Given the description of an element on the screen output the (x, y) to click on. 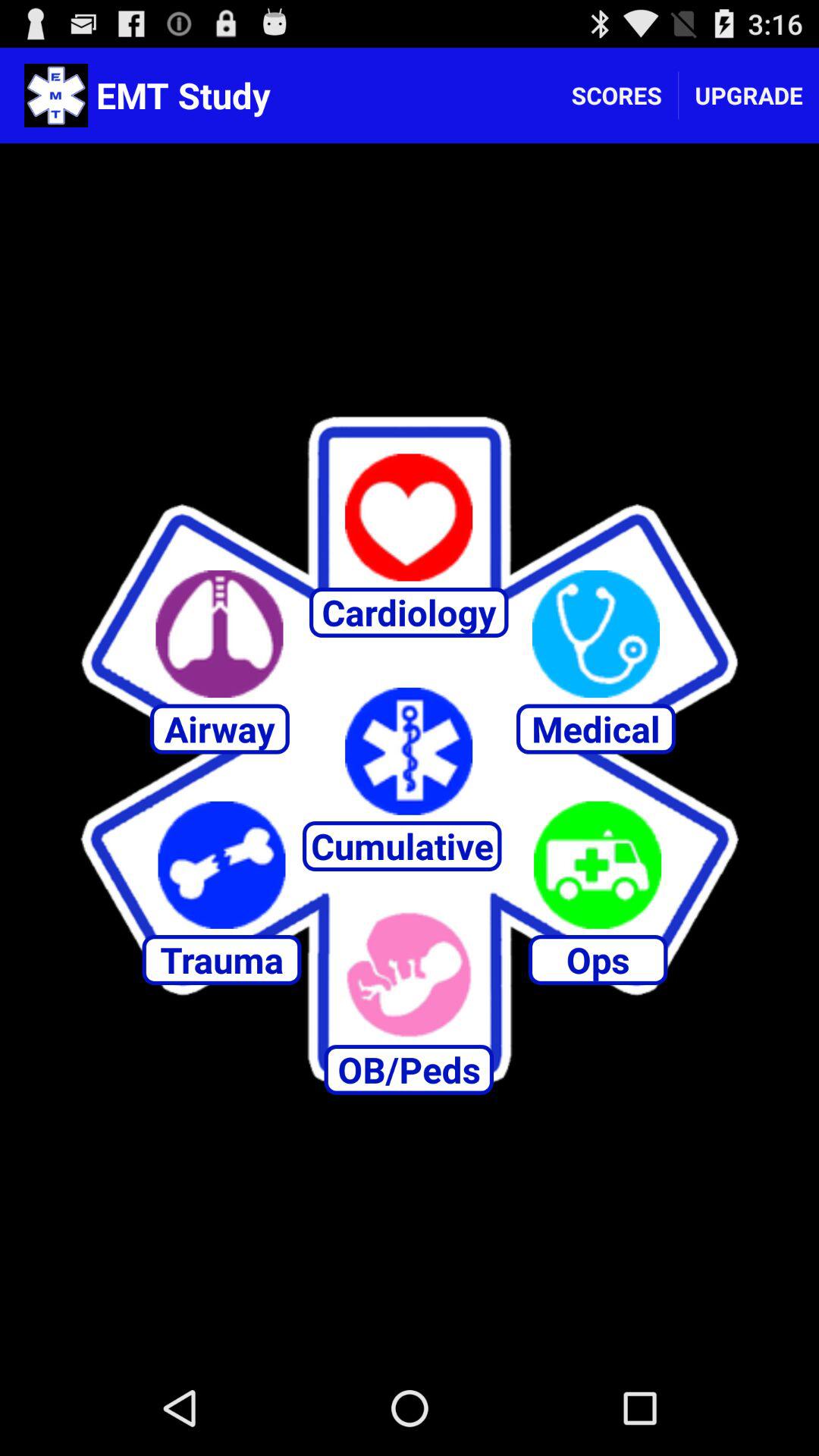
ambulance (597, 864)
